Given the description of an element on the screen output the (x, y) to click on. 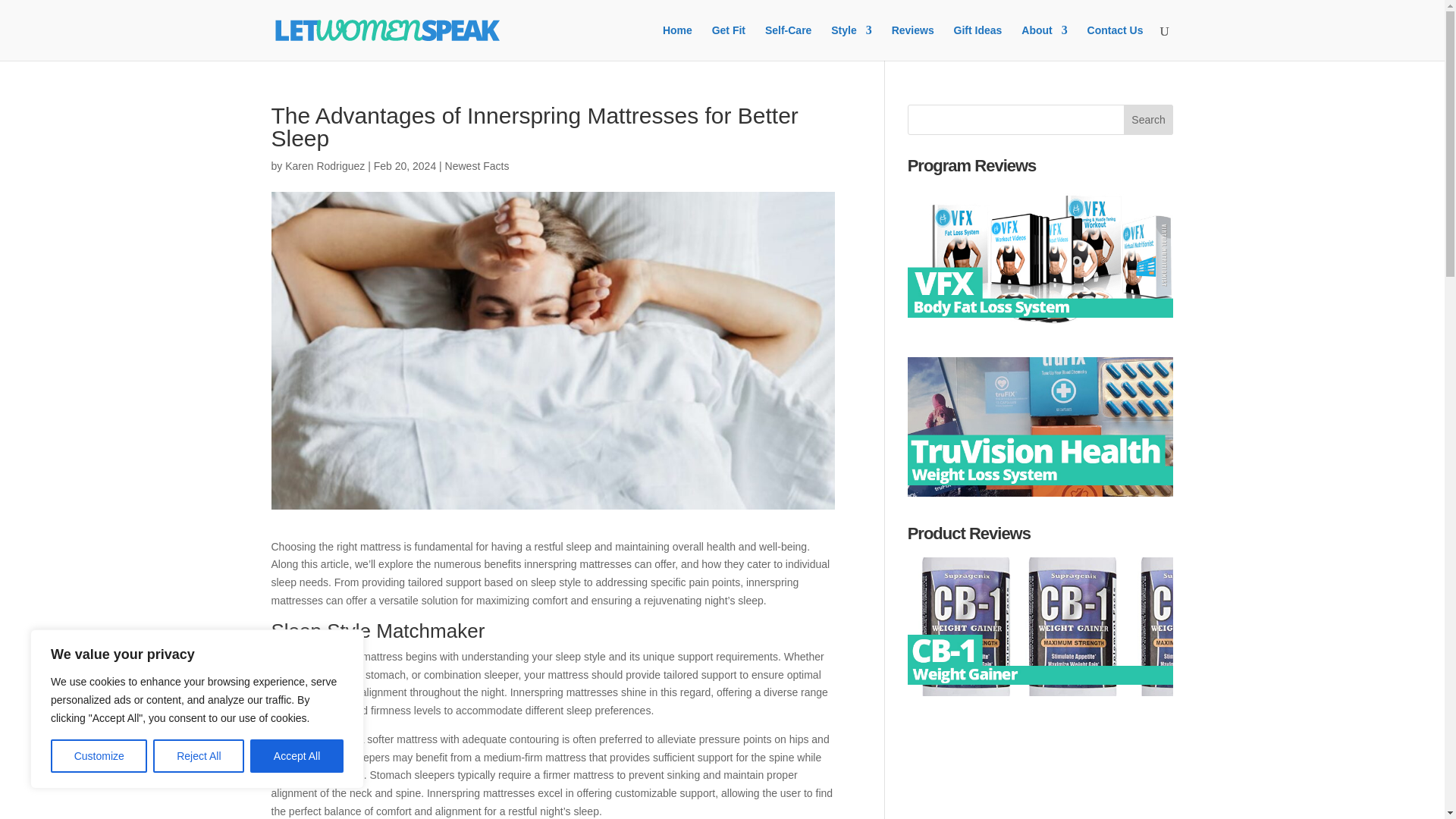
Search (1148, 119)
Karen Rodriguez (325, 165)
Get Fit (728, 42)
Search (1148, 119)
Reject All (198, 756)
About (1044, 42)
Reviews (912, 42)
Customize (98, 756)
Accept All (296, 756)
Gift Ideas (978, 42)
